Given the description of an element on the screen output the (x, y) to click on. 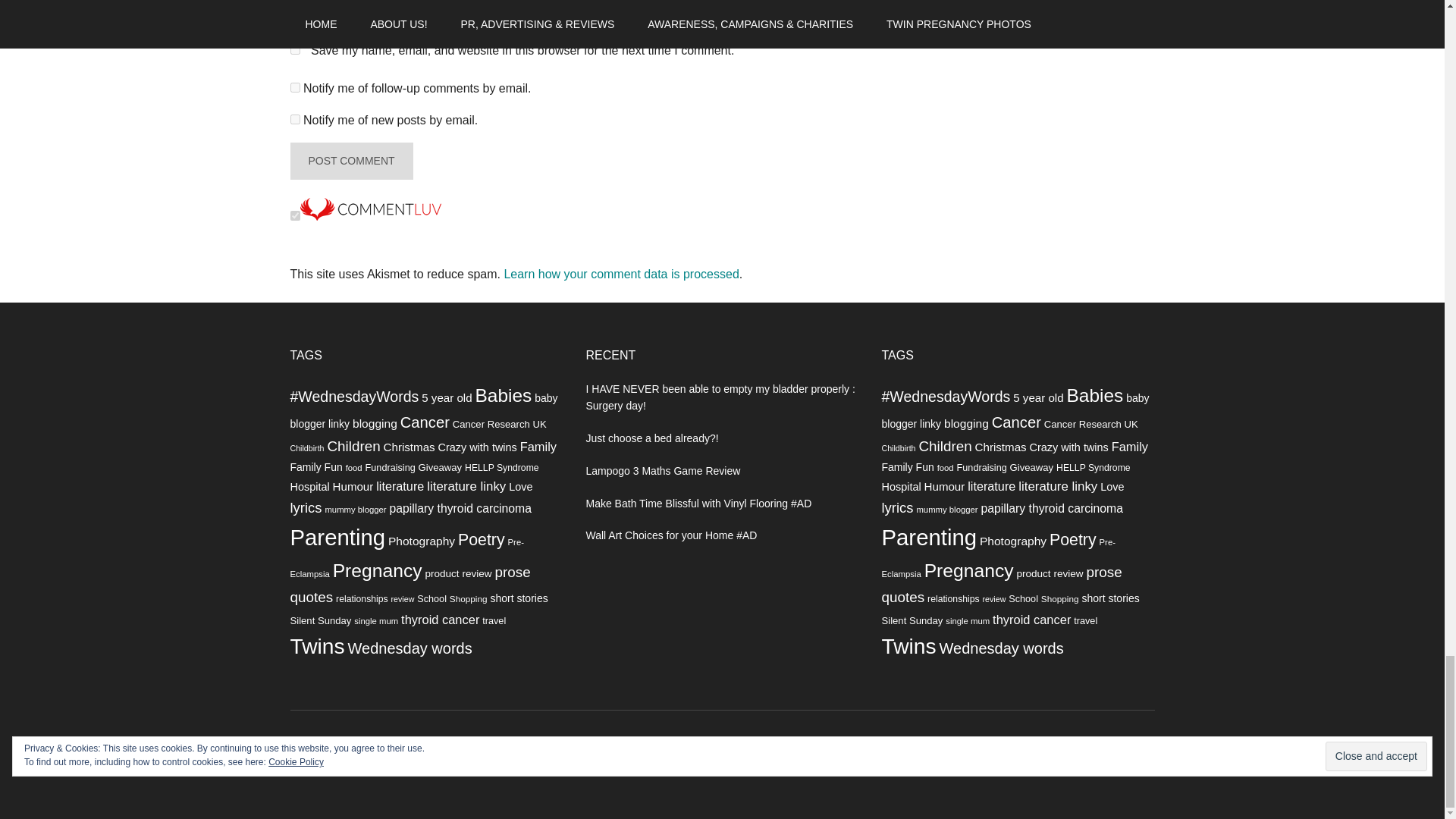
yes (294, 49)
on (294, 214)
subscribe (294, 119)
subscribe (294, 87)
Post Comment (350, 160)
